Given the description of an element on the screen output the (x, y) to click on. 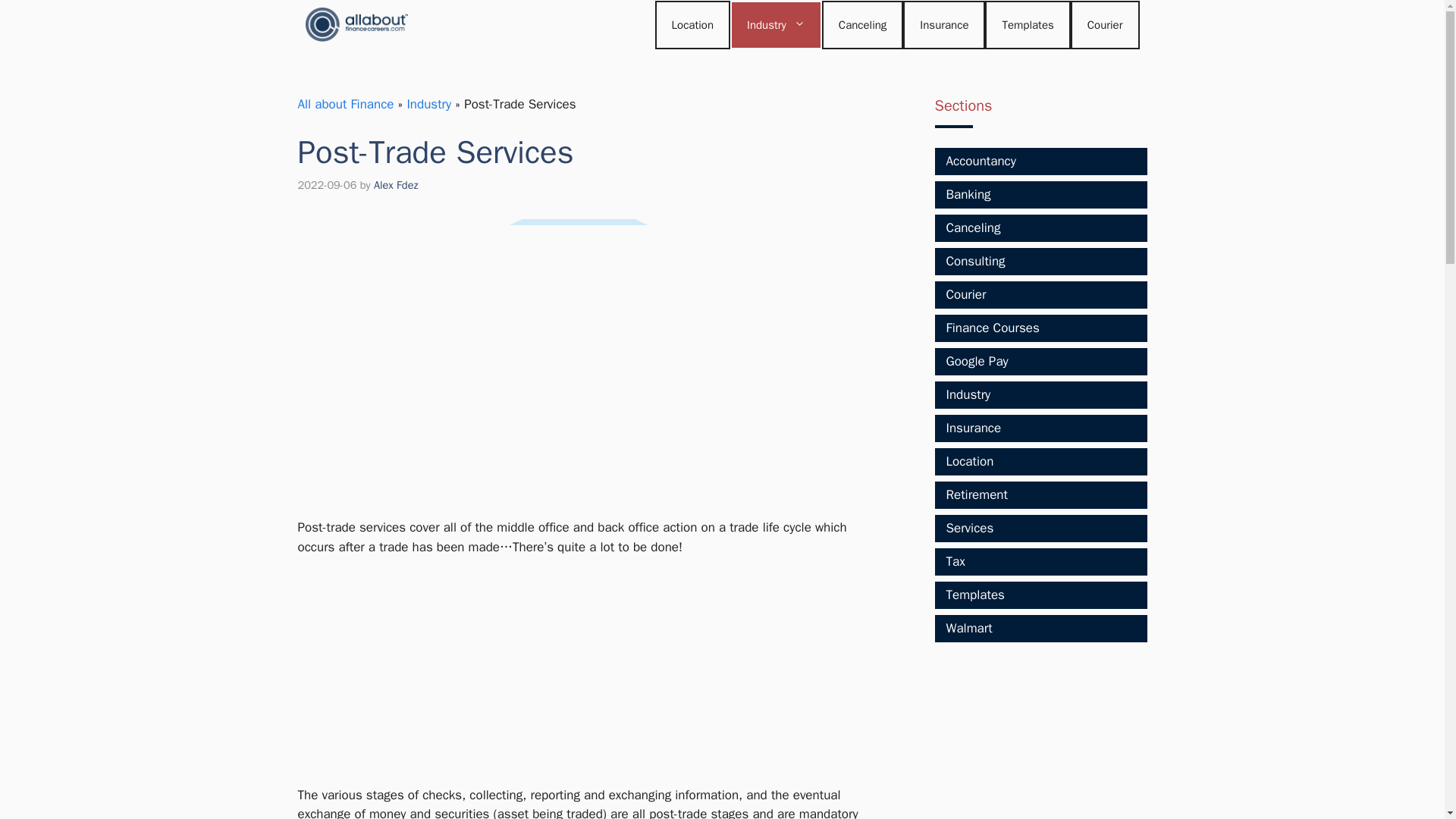
Accountancy (981, 160)
All about Finance (345, 104)
Services (970, 528)
Insurance (943, 24)
View all posts by Alex Fdez (396, 184)
Courier (966, 294)
Location (970, 461)
Google Pay (977, 360)
Location (692, 24)
Consulting (976, 261)
Industry (776, 24)
Finance Courses (992, 327)
Industry (968, 394)
Canceling (863, 24)
Courier (1105, 24)
